Given the description of an element on the screen output the (x, y) to click on. 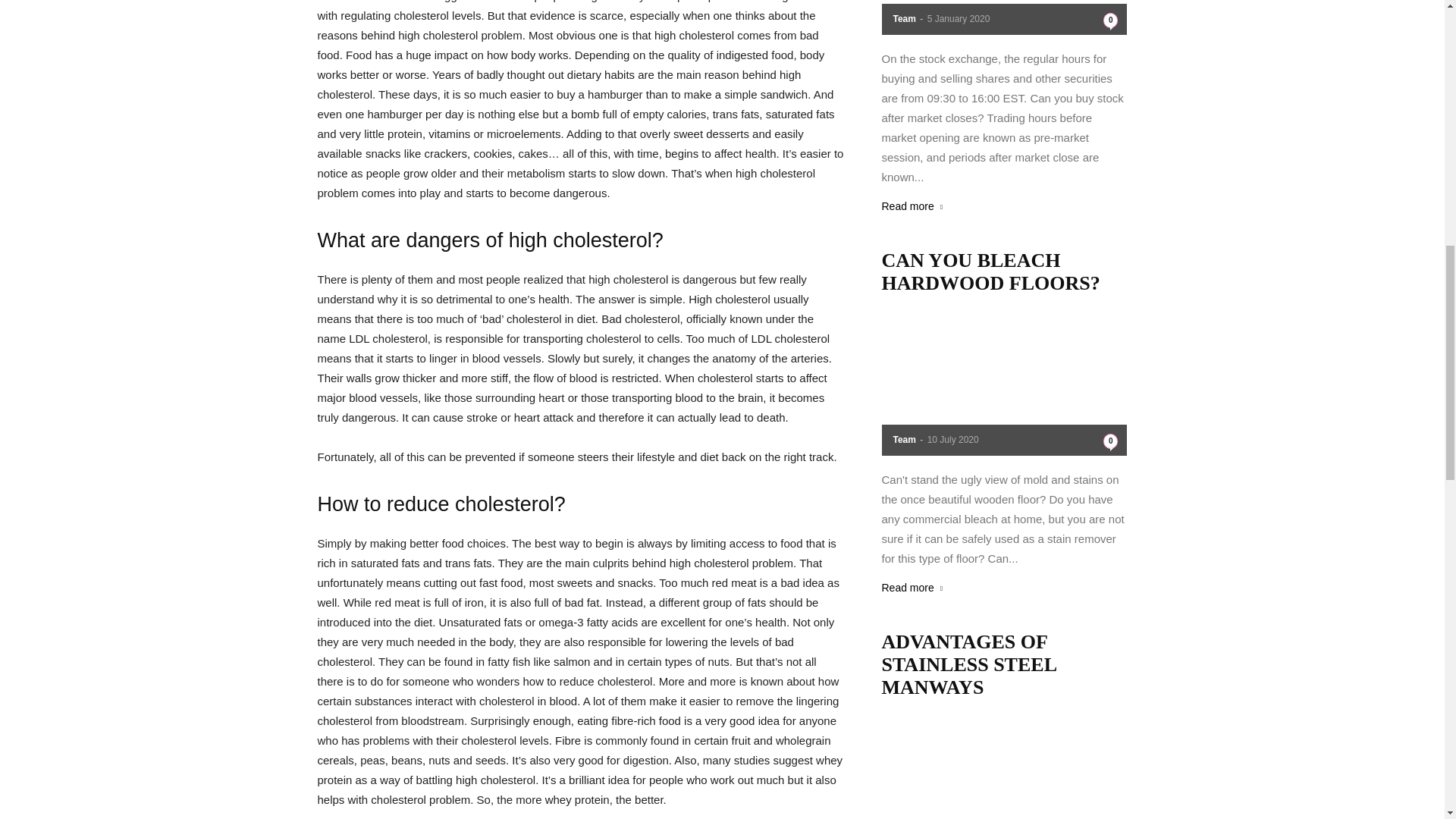
Can you bleach hardwood floors? (1003, 381)
Can you buy stock after market closes? (1003, 17)
Advantages of stainless steel manways (1003, 765)
Advantages of stainless steel manways (967, 664)
Can you bleach hardwood floors? (989, 271)
